Given the description of an element on the screen output the (x, y) to click on. 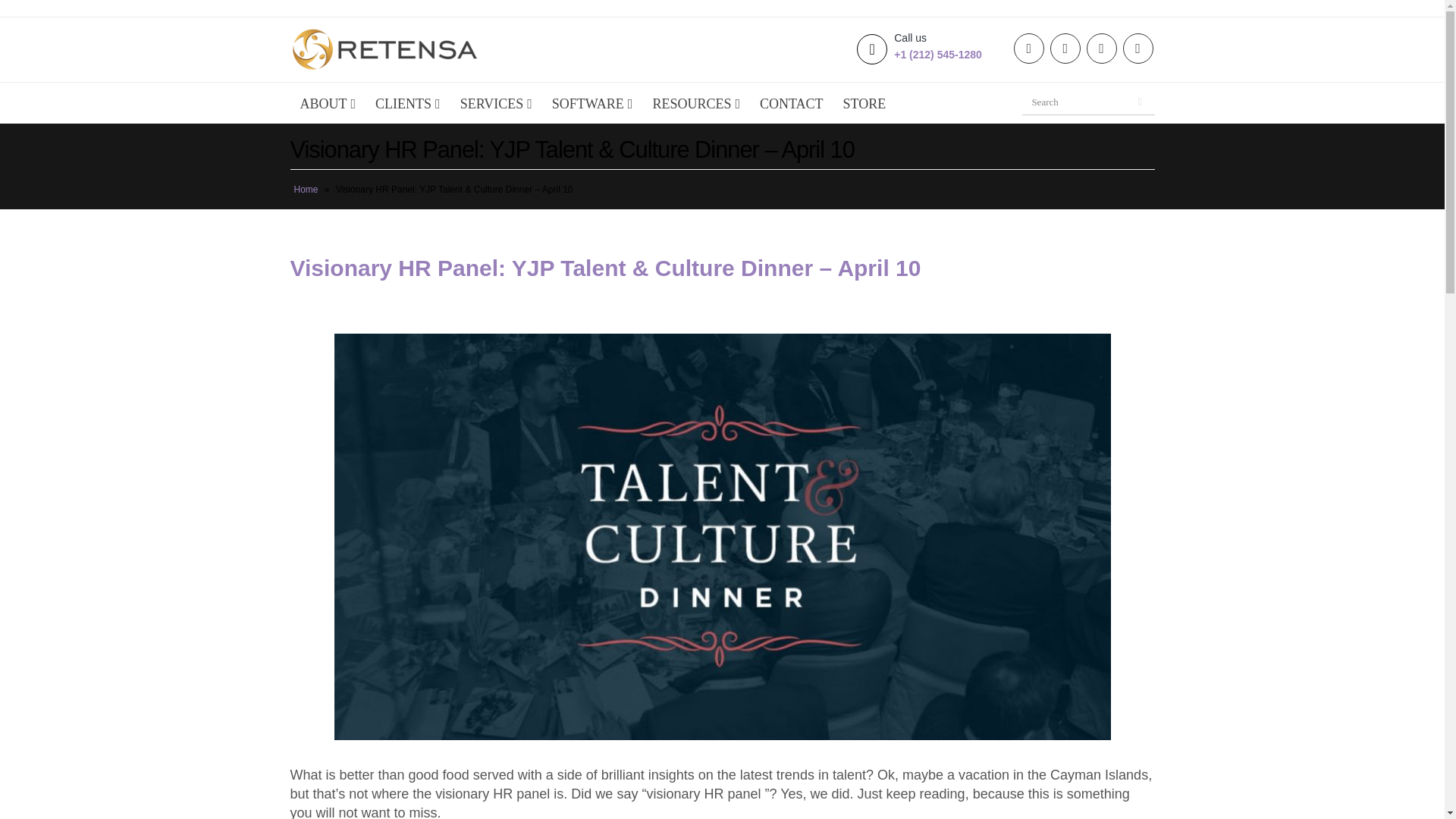
Email (1028, 48)
LinkedIn (1064, 48)
Retensa - Employee Retention Strategies (384, 49)
Twitter (1101, 48)
Search (1141, 101)
instagram (1137, 48)
